Given the description of an element on the screen output the (x, y) to click on. 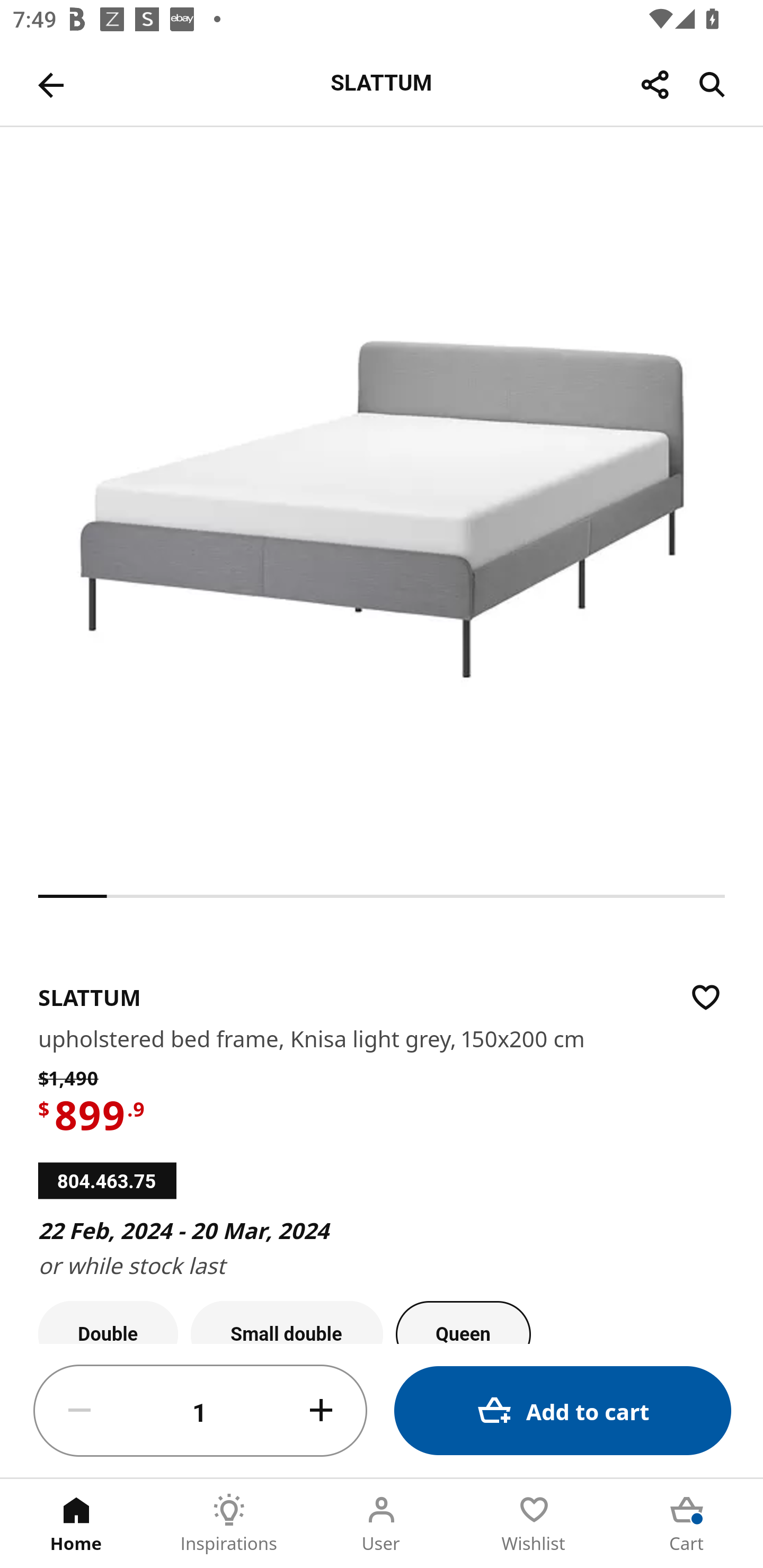
Double (107, 1322)
Small double (286, 1322)
Queen (463, 1322)
Add to cart (562, 1410)
1 (200, 1411)
Home
Tab 1 of 5 (76, 1522)
Inspirations
Tab 2 of 5 (228, 1522)
User
Tab 3 of 5 (381, 1522)
Wishlist
Tab 4 of 5 (533, 1522)
Cart
Tab 5 of 5 (686, 1522)
